Given the description of an element on the screen output the (x, y) to click on. 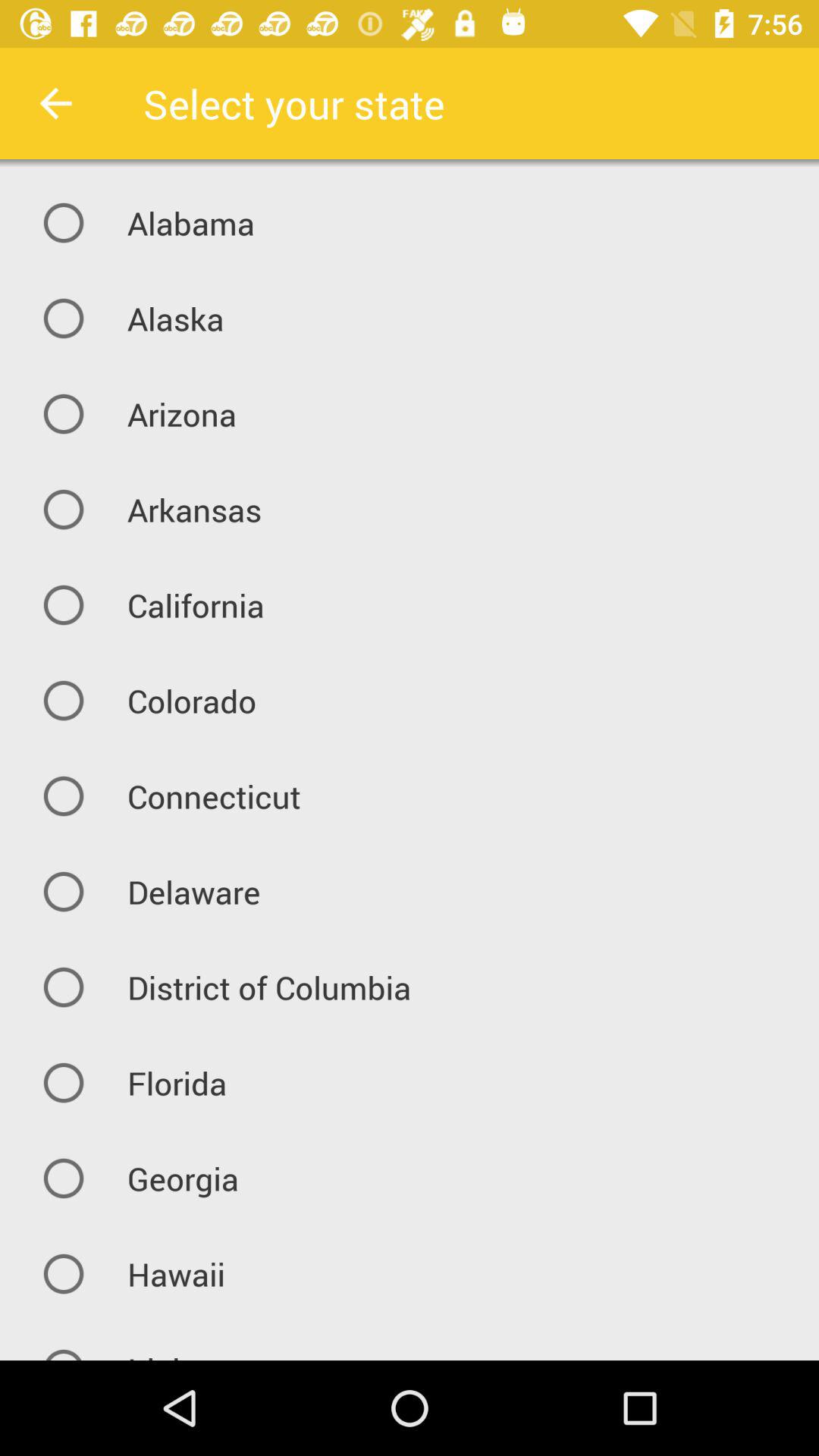
go back (55, 103)
